Given the description of an element on the screen output the (x, y) to click on. 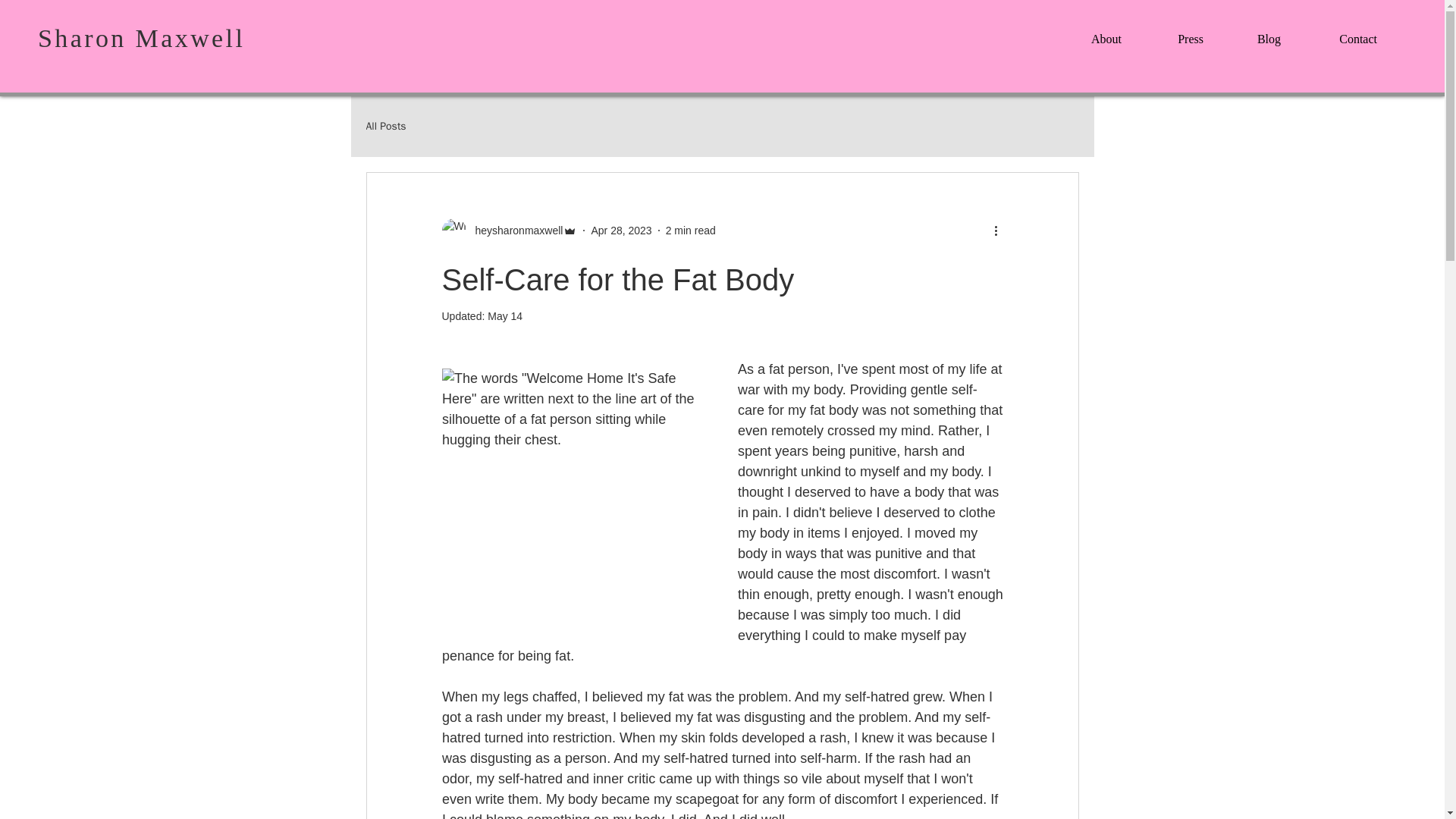
Apr 28, 2023 (620, 230)
Press (1176, 32)
heysharonmaxwell (508, 230)
Blog (1255, 32)
2 min read (690, 230)
Sharon Maxwell (140, 37)
Contact (1342, 32)
All Posts (385, 126)
May 14 (504, 316)
heysharonmaxwell (513, 230)
